Given the description of an element on the screen output the (x, y) to click on. 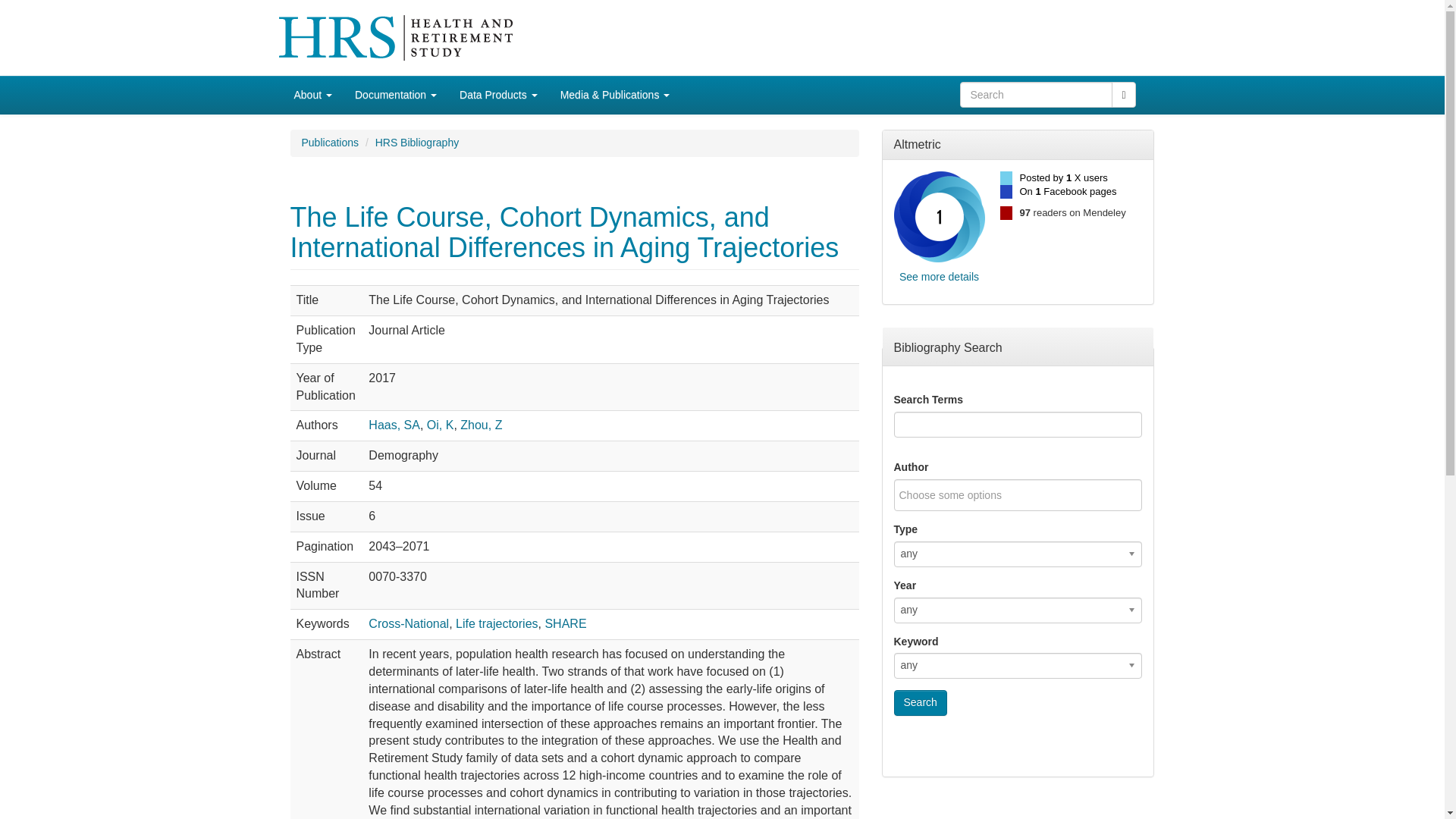
Choose some options (959, 495)
Documentation (395, 94)
About (312, 94)
Data Products (498, 94)
